Given the description of an element on the screen output the (x, y) to click on. 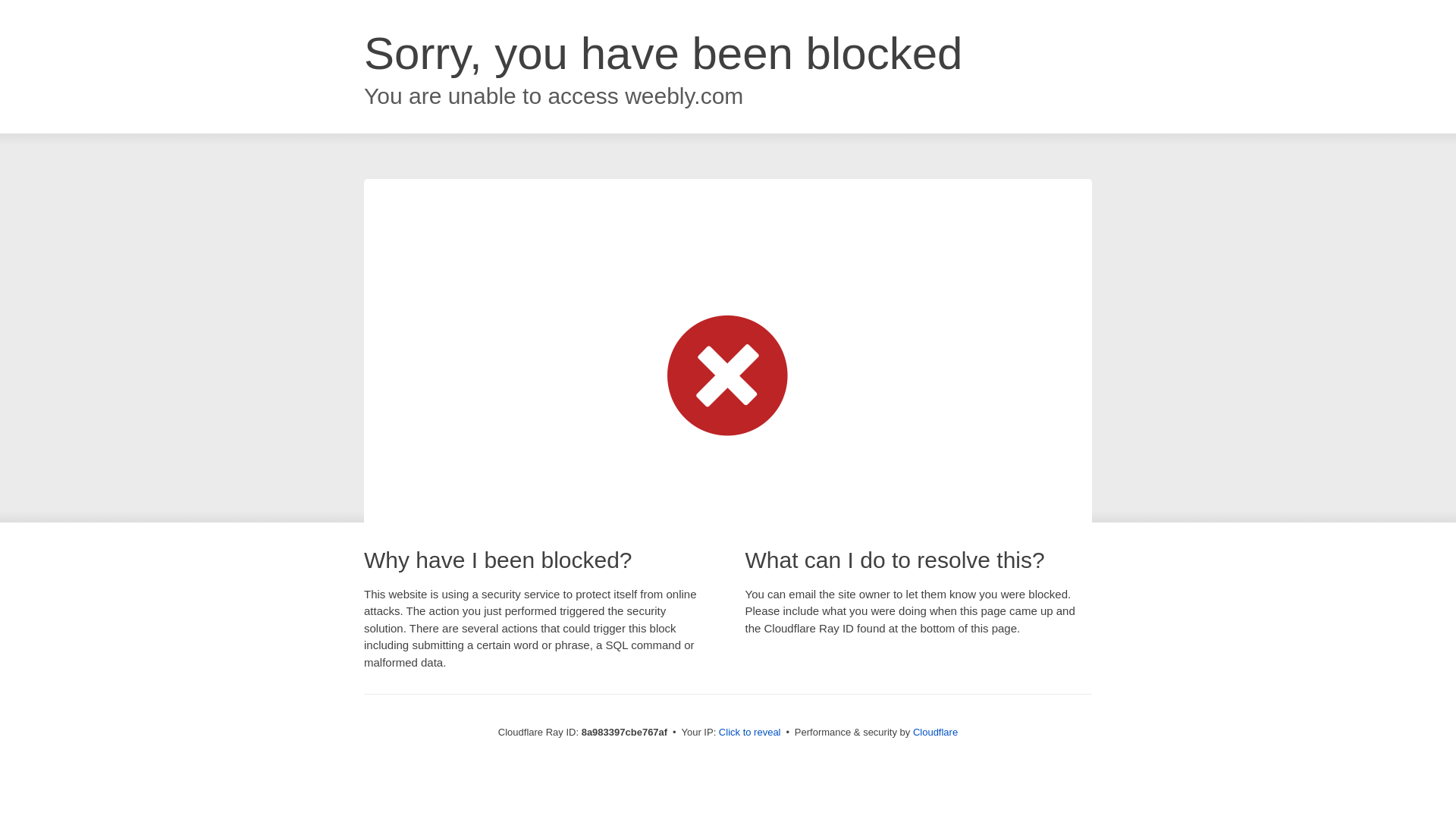
Click to reveal (749, 732)
Cloudflare (935, 731)
